Given the description of an element on the screen output the (x, y) to click on. 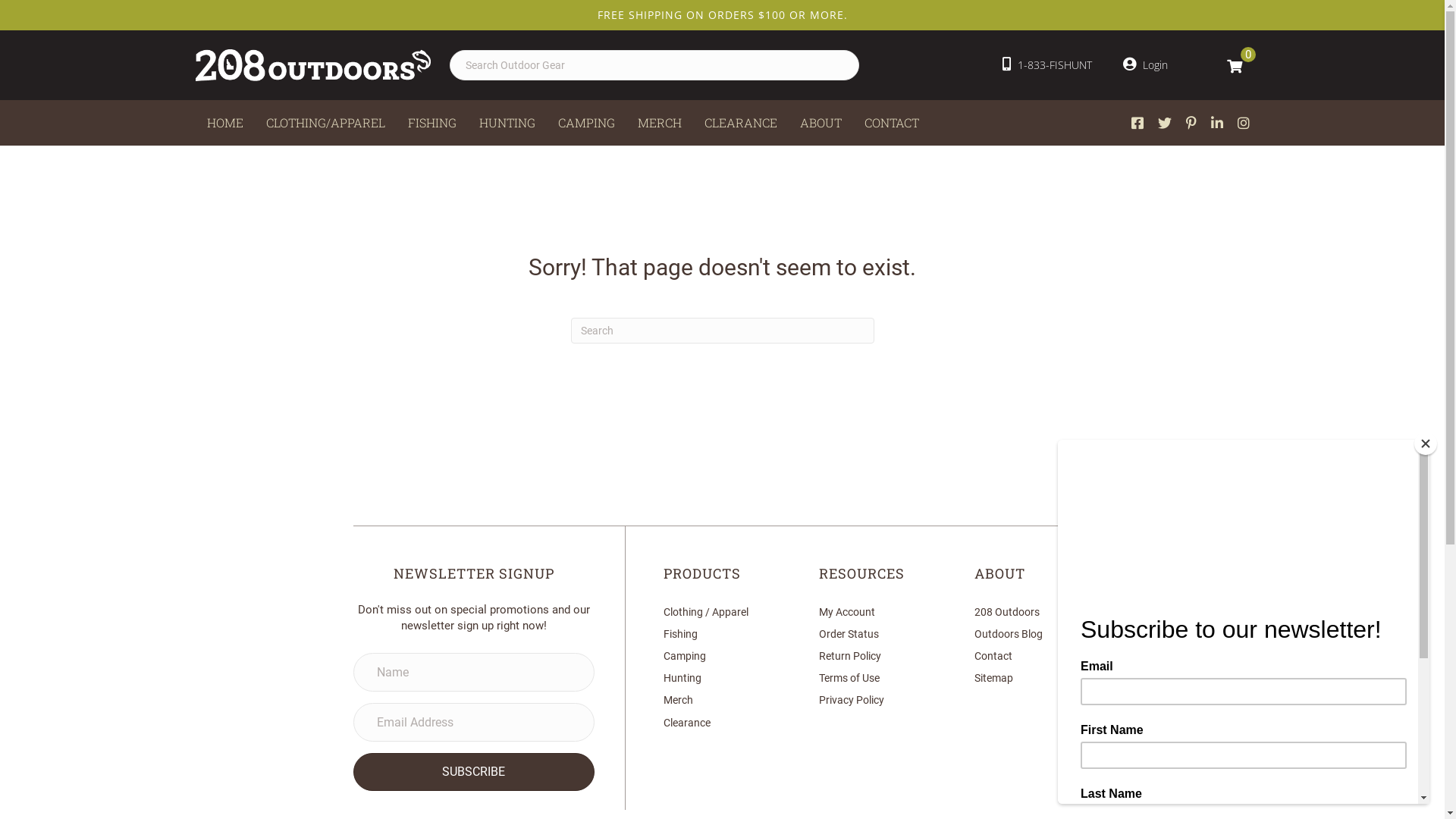
Clearance Element type: text (686, 722)
CAMPING Element type: text (585, 122)
Return Policy Element type: text (850, 655)
Type and press Enter to search. Element type: hover (721, 330)
My Account Element type: text (847, 611)
HOME Element type: text (224, 122)
Camping Element type: text (684, 655)
Sitemap Element type: text (993, 677)
CONTACT Element type: text (890, 122)
208Outdoors-web-logo-white-horiz-256px@2x Element type: hover (312, 65)
Login Element type: text (1144, 65)
ABOUT Element type: text (820, 122)
Privacy Policy Element type: text (851, 699)
CLEARANCE Element type: text (740, 122)
208 Outdoors Element type: text (1006, 611)
FISHING Element type: text (431, 122)
Hunting Element type: text (682, 677)
1-833-FISHUNT Element type: text (1047, 65)
Terms of Use Element type: text (849, 677)
MERCH Element type: text (659, 122)
Clothing / Apparel Element type: text (705, 611)
CLOTHING/APPAREL Element type: text (325, 122)
PRODUCTS Element type: text (701, 573)
0 Element type: text (1234, 64)
Contact Element type: text (993, 655)
Fishing Element type: text (680, 633)
HUNTING Element type: text (506, 122)
Outdoors Blog Element type: text (1008, 633)
SUBSCRIBE Element type: text (474, 771)
Order Status Element type: text (848, 633)
Merch Element type: text (678, 699)
